Given the description of an element on the screen output the (x, y) to click on. 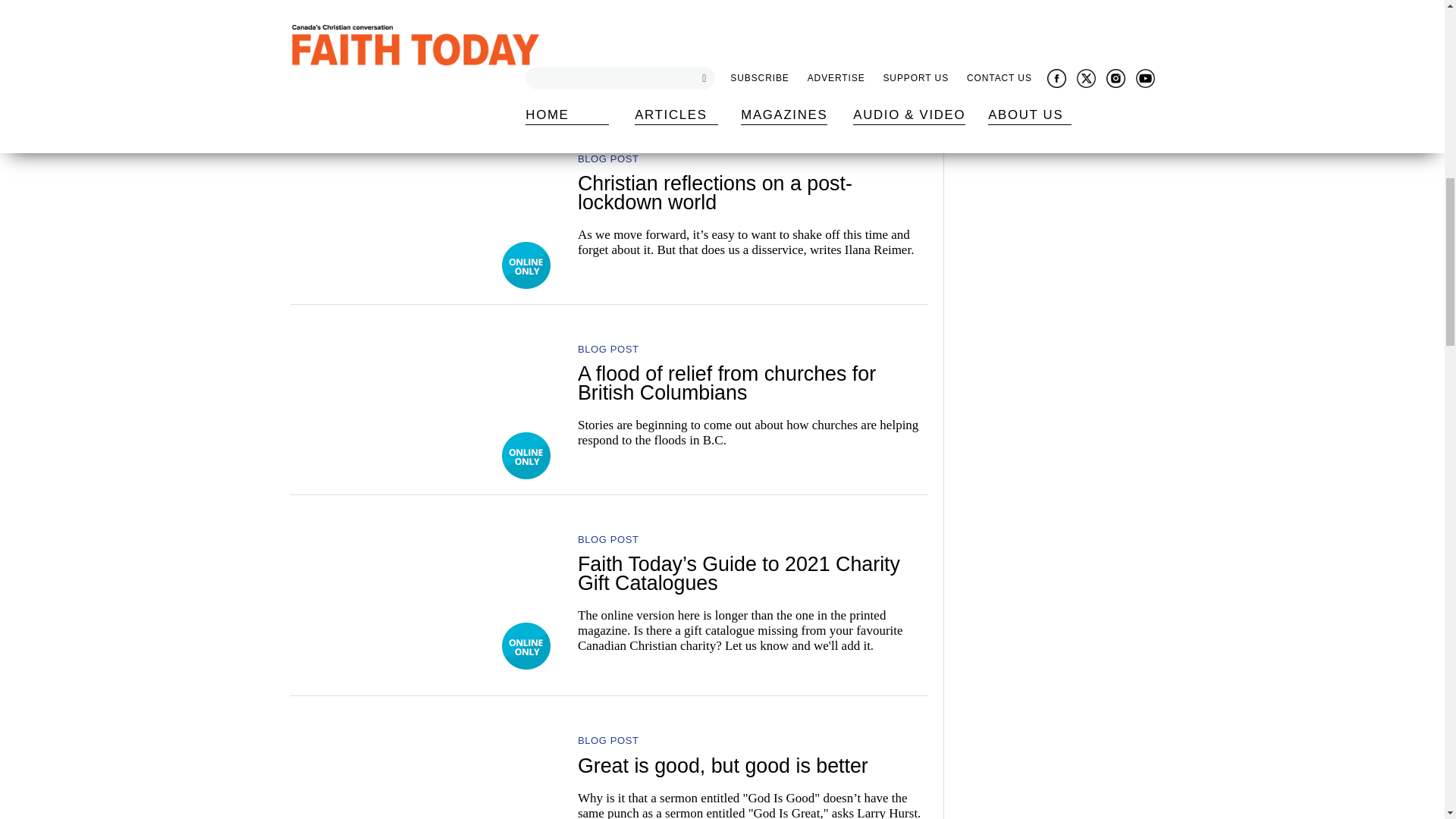
Flooding-photo-by-kelly-sikkema-unsplash (423, 395)
emerging (423, 205)
BC-flood-post (423, 36)
Good-on-graffiti-wall-photo-by-volkan-olmez (423, 768)
